Given the description of an element on the screen output the (x, y) to click on. 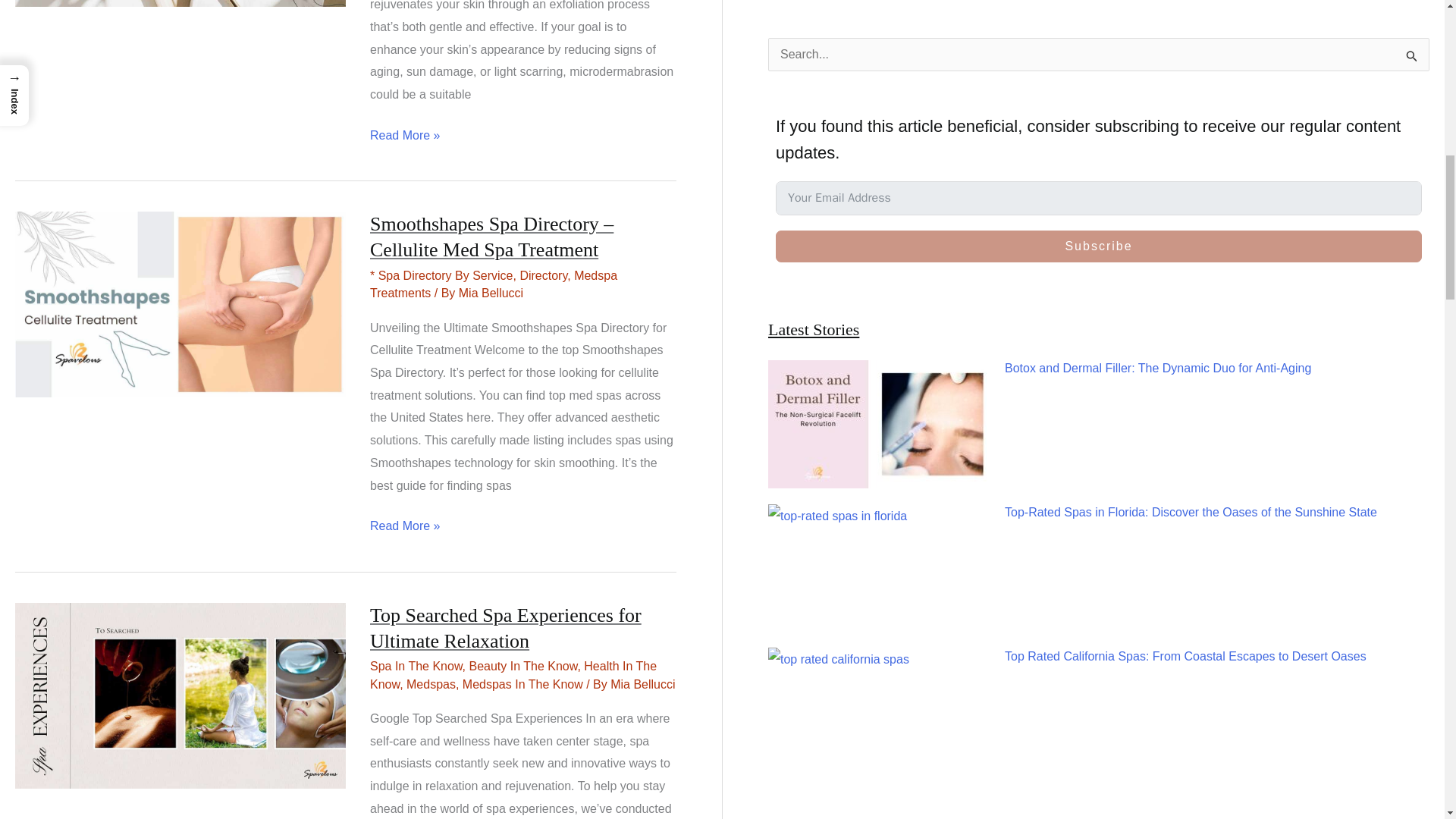
View all posts by Mia Bellucci (490, 292)
MICRODERMABRASION TO REDUCE SIGNS OF AGING AND SUN DAMAGE 2 (180, 3)
SMOOTHSHAPES SPA DIRECTORY - CELLULITE MED SPA TREATMENT 3 (180, 304)
View all posts by Mia Bellucci (642, 684)
TOP SEARCHED SPA EXPERIENCES FOR ULTIMATE RELAXATION 4 (180, 695)
